Given the description of an element on the screen output the (x, y) to click on. 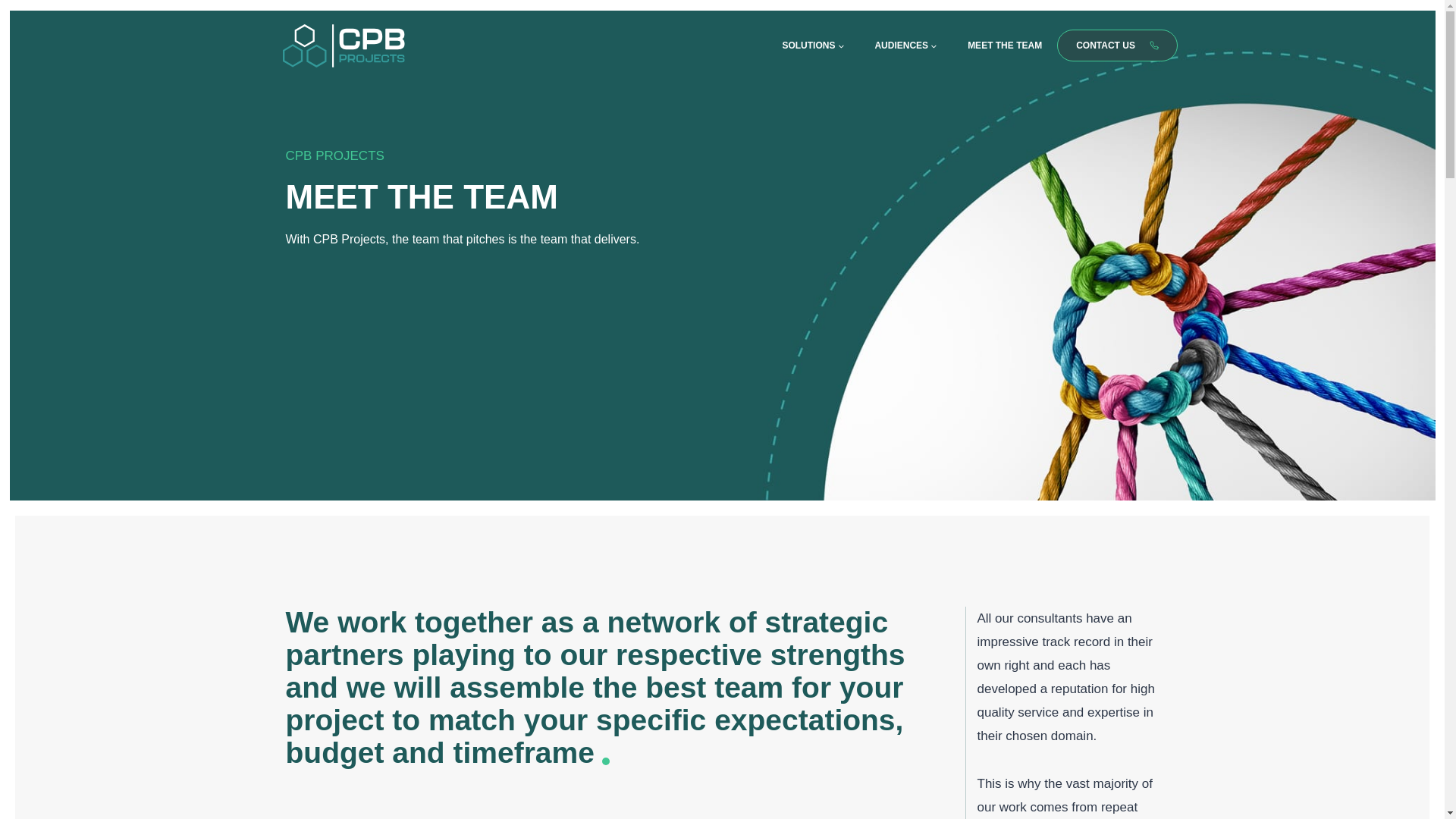
AUDIENCES (905, 45)
CONTACT US (1117, 45)
SOLUTIONS (813, 45)
MEET THE TEAM (1004, 45)
